Given the description of an element on the screen output the (x, y) to click on. 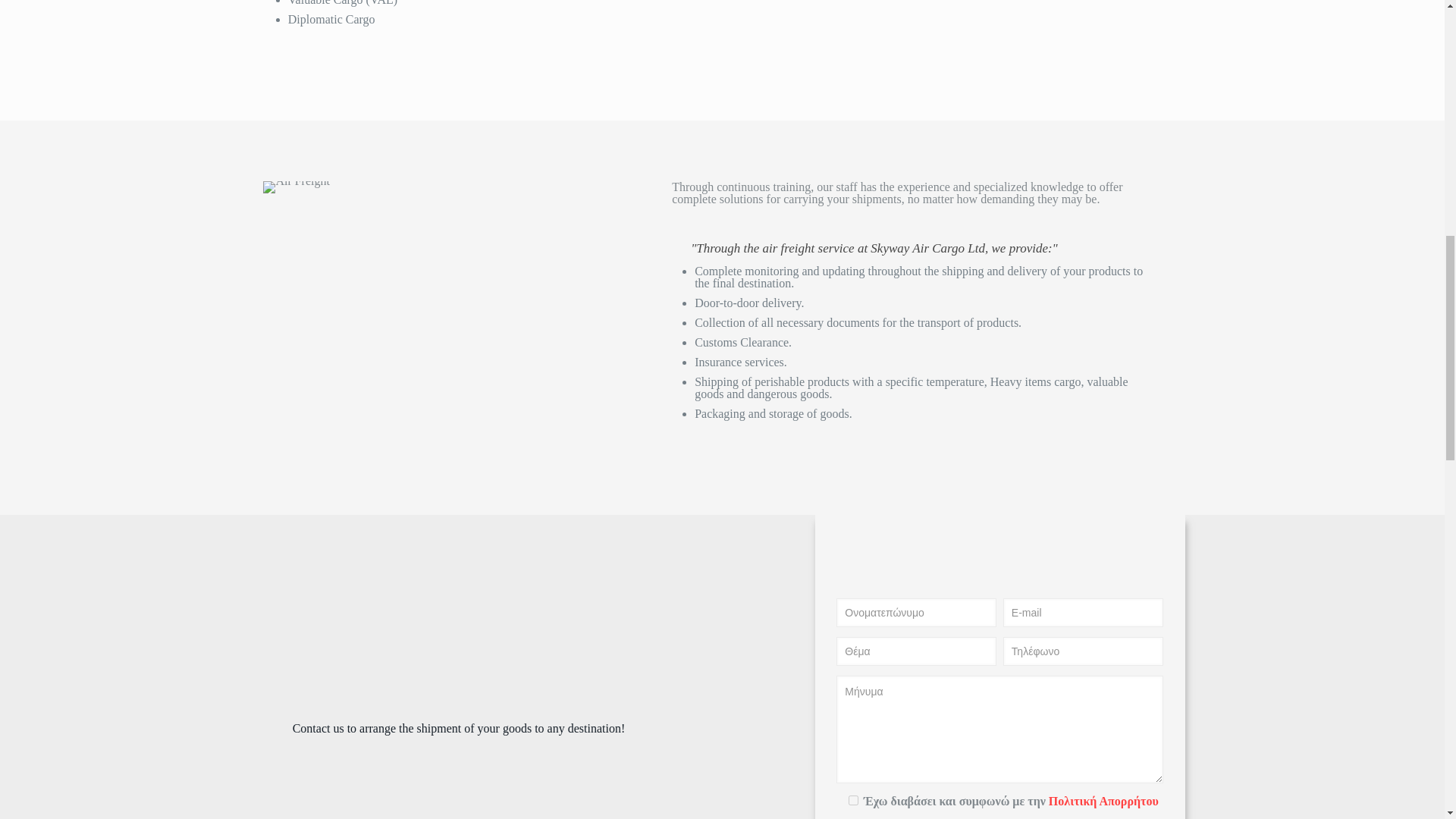
1 (853, 800)
